Given the description of an element on the screen output the (x, y) to click on. 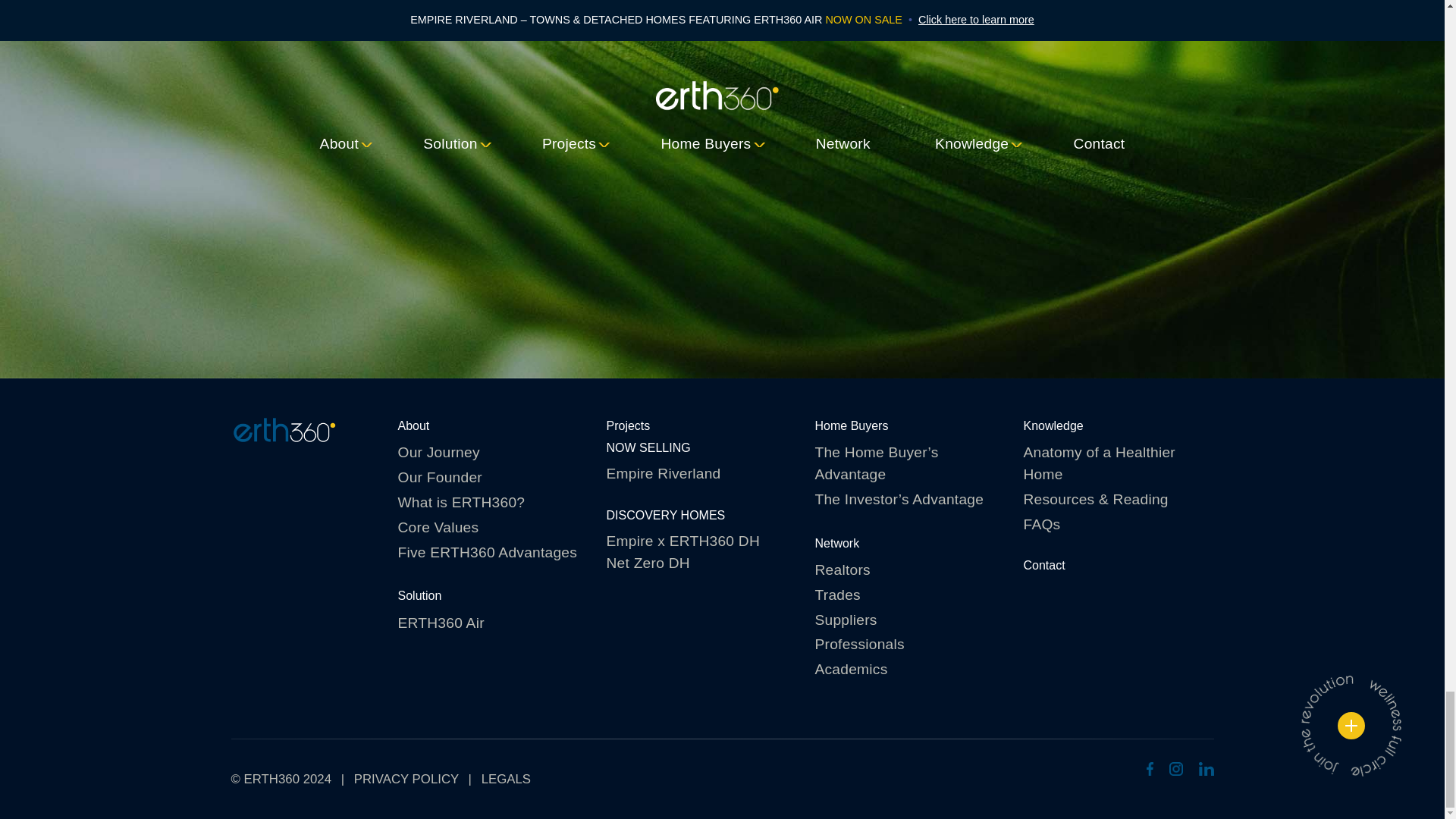
Our Journey (492, 453)
About (413, 425)
